Given the description of an element on the screen output the (x, y) to click on. 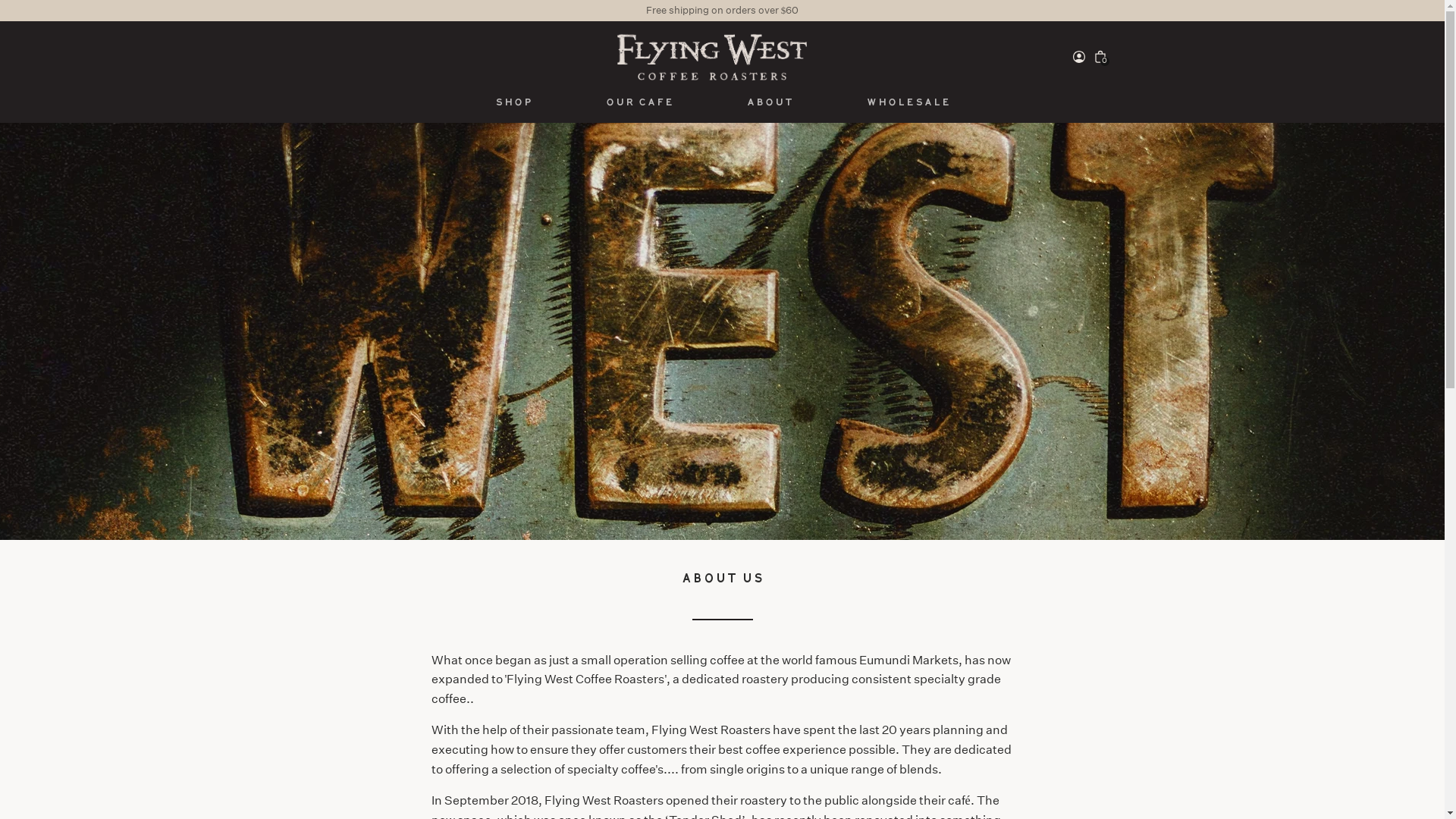
Our cafe Element type: text (639, 102)
0 Element type: text (1099, 56)
Wholesale Element type: text (908, 102)
Shop Element type: text (513, 102)
About Element type: text (769, 102)
